Given the description of an element on the screen output the (x, y) to click on. 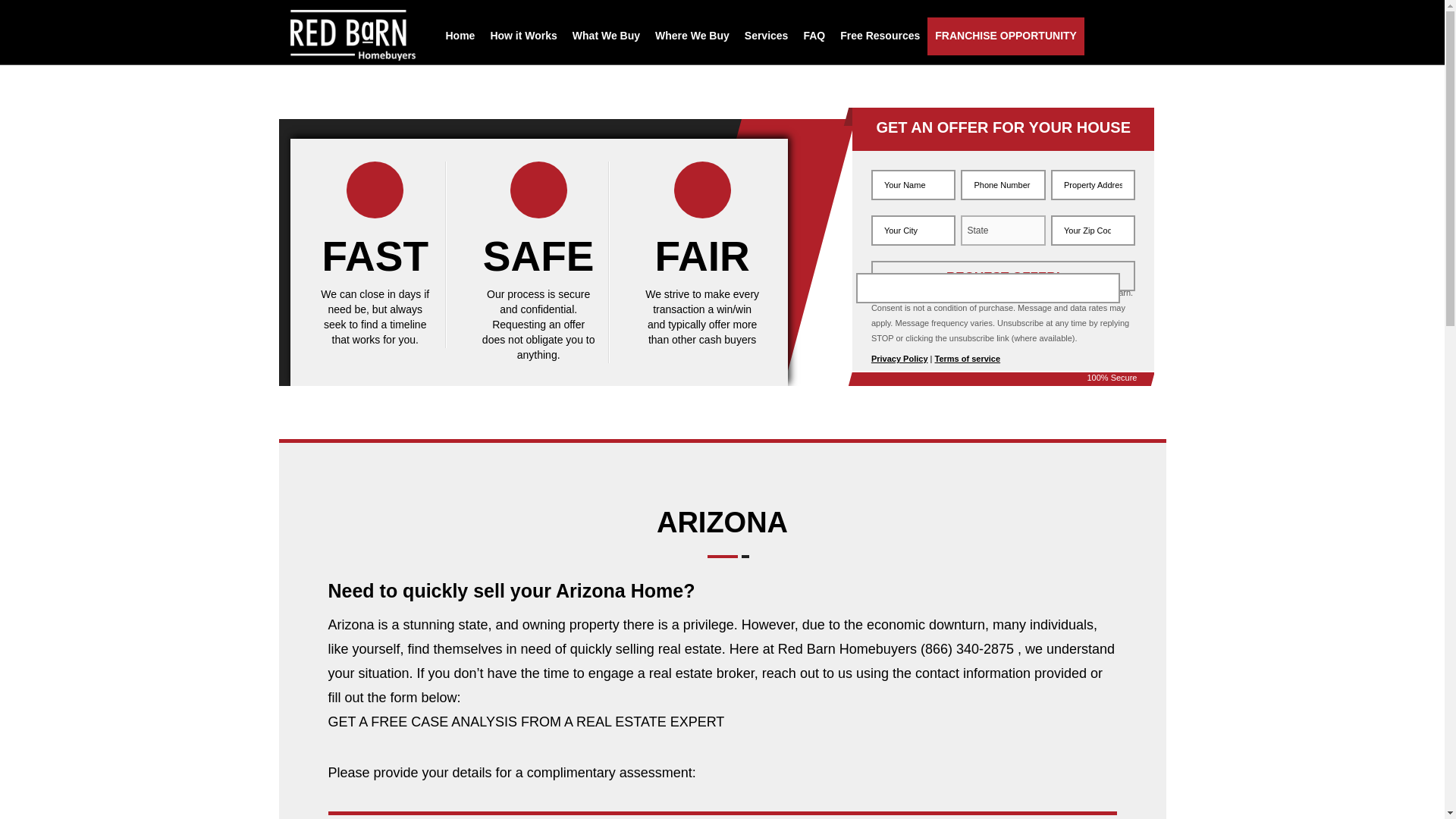
Where We Buy (691, 36)
FAQ (813, 36)
FRANCHISE OPPORTUNITY (1005, 36)
How it Works (522, 36)
Services (766, 36)
What We Buy (605, 36)
REQUEST OFFER! (1002, 276)
Terms of service (967, 358)
Home (460, 36)
Free Resources (879, 36)
